Given the description of an element on the screen output the (x, y) to click on. 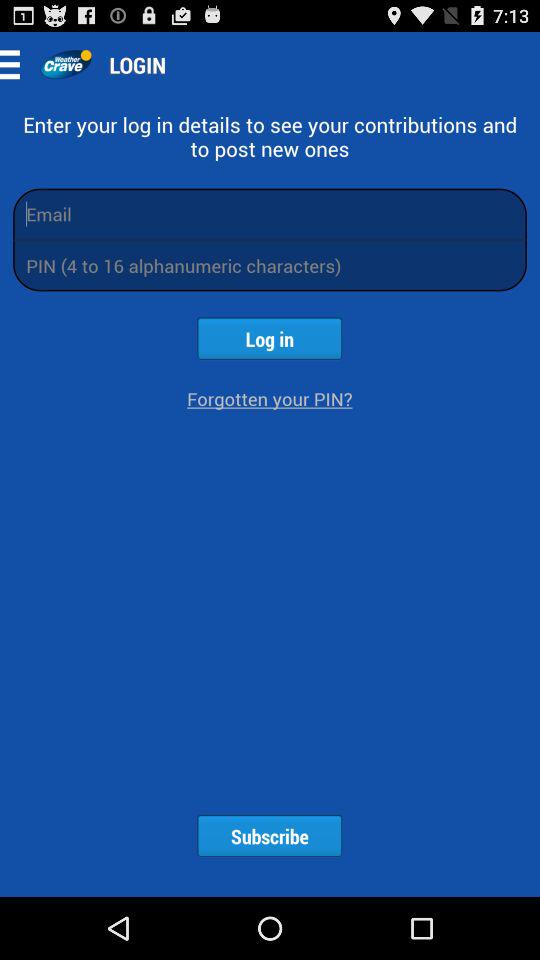
scroll until the subscribe app (269, 835)
